Given the description of an element on the screen output the (x, y) to click on. 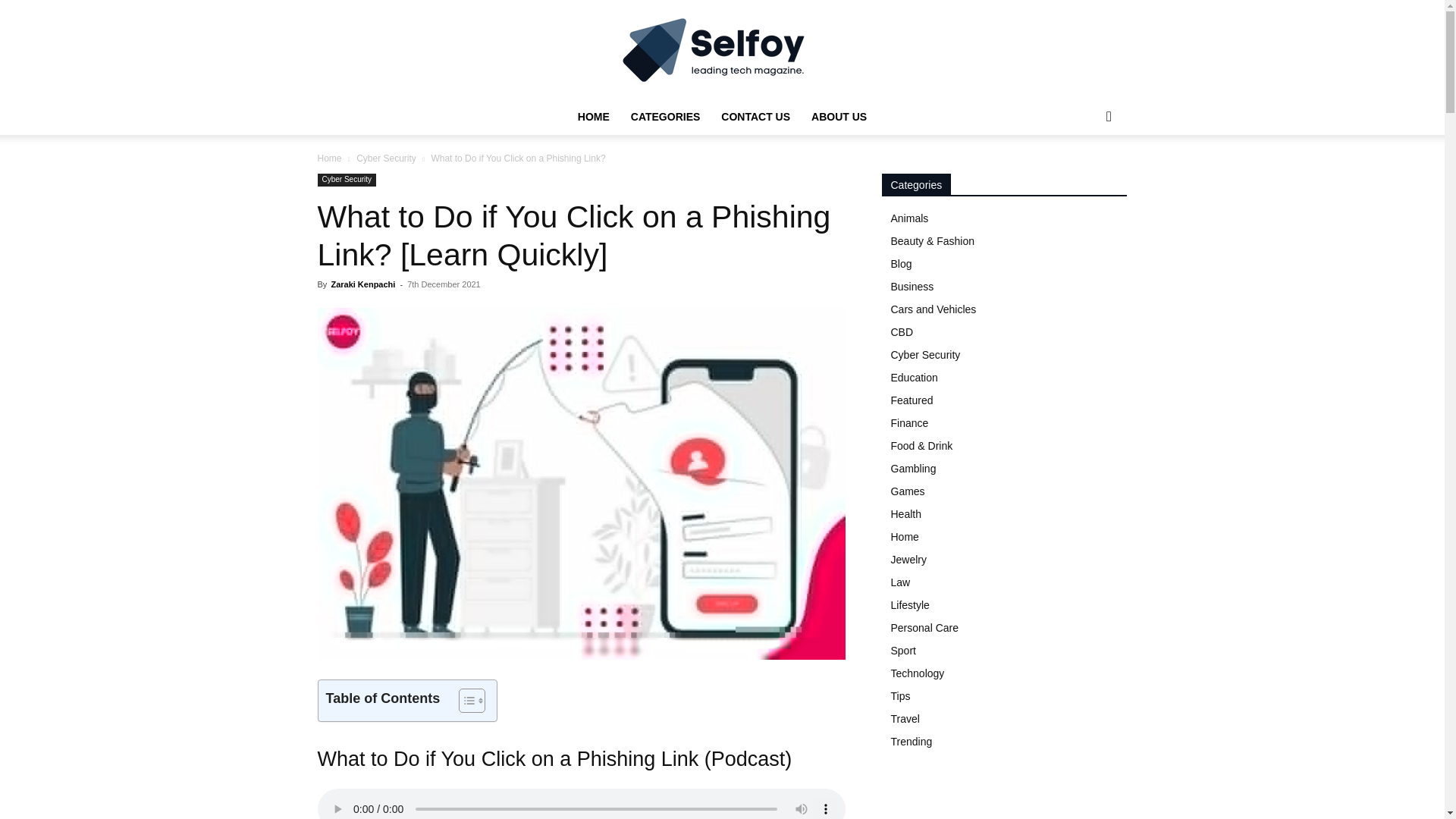
HOME (593, 116)
Zaraki Kenpachi (362, 284)
View all posts in Cyber Security (386, 158)
Search (1085, 177)
Cyber Security (346, 179)
CONTACT US (755, 116)
ABOUT US (838, 116)
Home (328, 158)
CATEGORIES (665, 116)
